Given the description of an element on the screen output the (x, y) to click on. 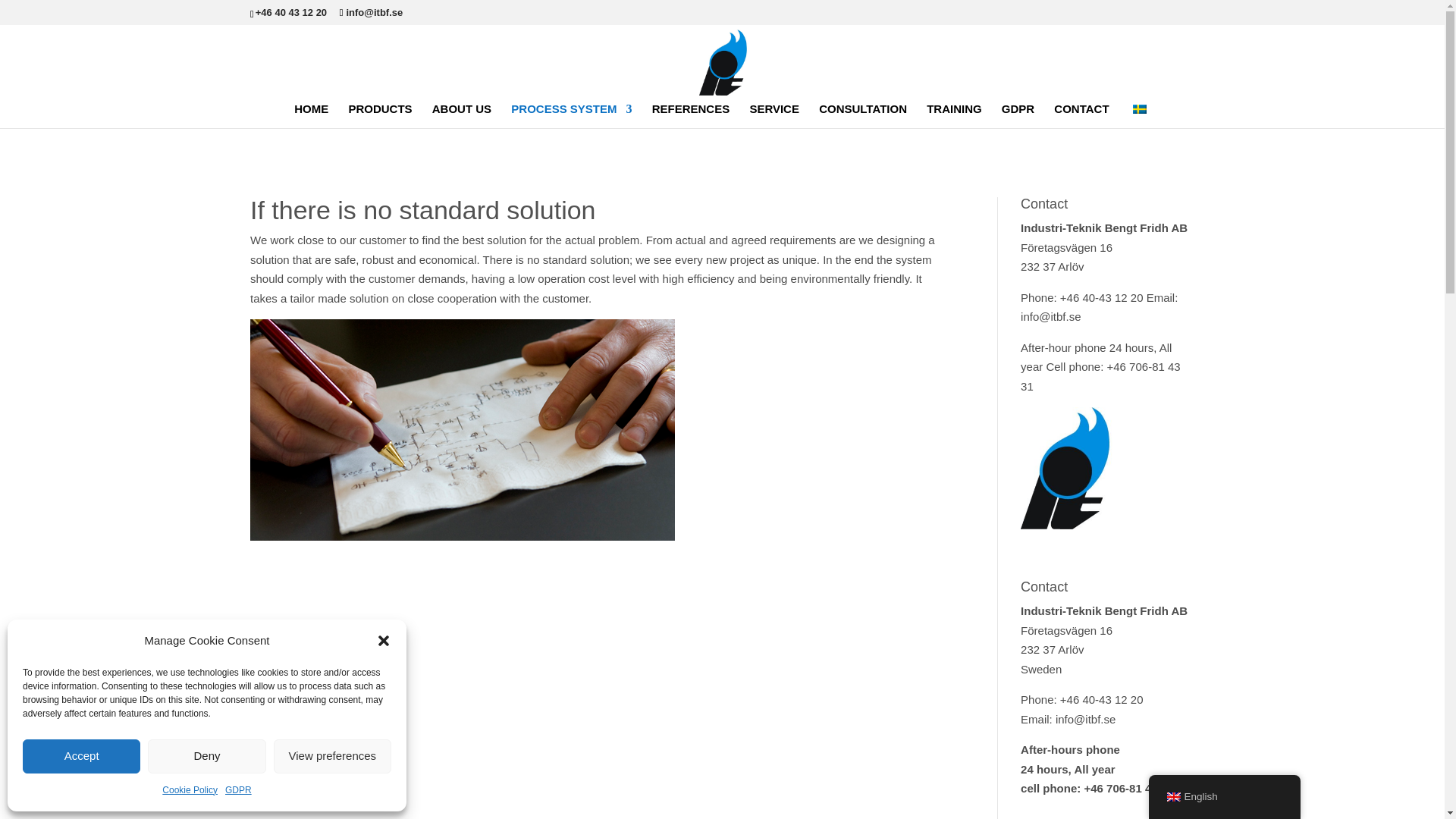
PROCESS SYSTEM (571, 115)
Deny (206, 755)
GDPR (238, 790)
ABOUT US (462, 115)
Cookie Policy (188, 790)
TRAINING (953, 115)
Accept (81, 755)
View preferences (332, 755)
English (1172, 796)
SERVICE (774, 115)
